Given the description of an element on the screen output the (x, y) to click on. 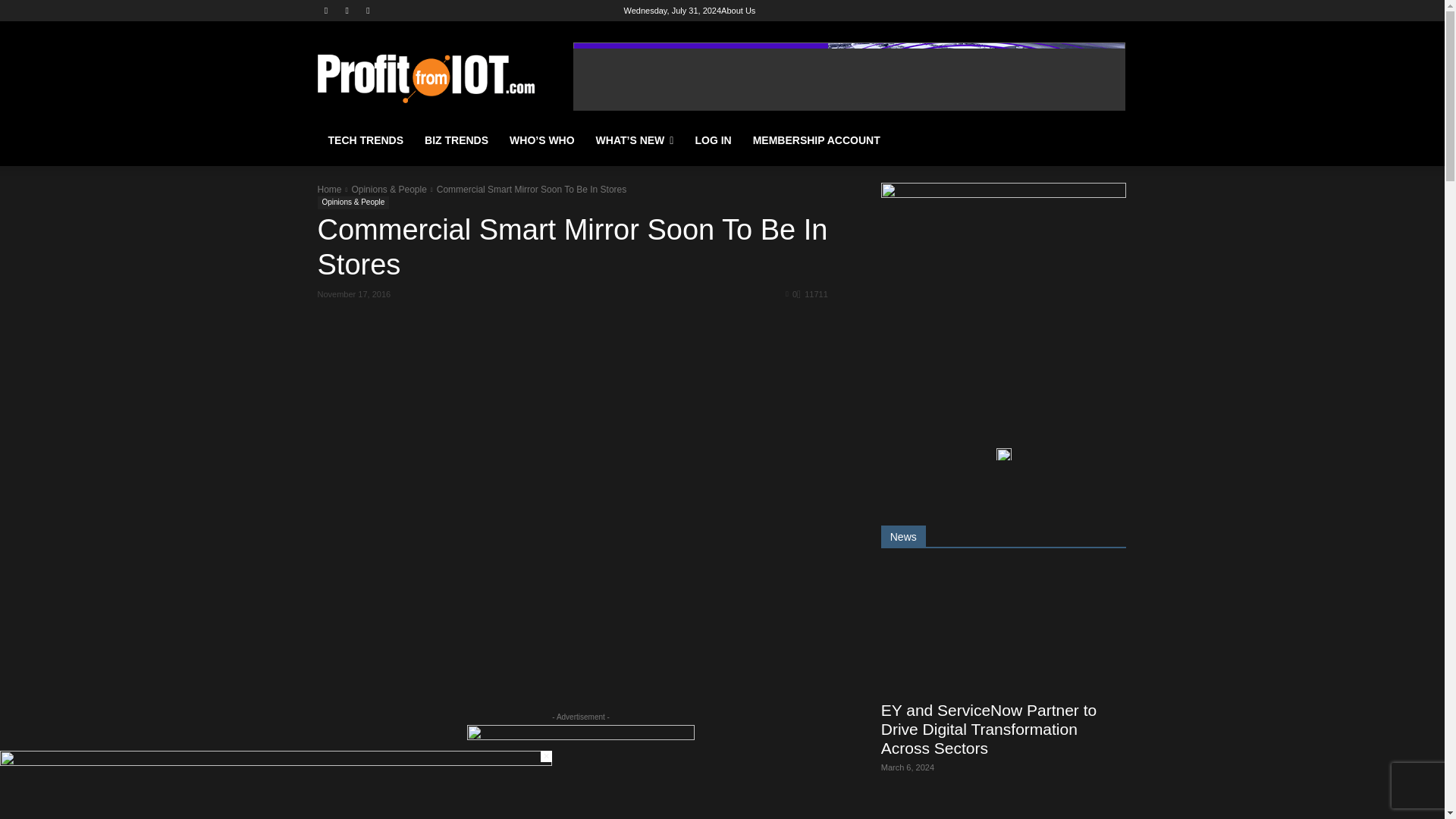
Home (328, 189)
LOG IN (712, 140)
Twitter (368, 9)
0 (791, 293)
Facebook (325, 9)
Instagram (346, 9)
TECH TRENDS (365, 140)
MEMBERSHIP ACCOUNT (816, 140)
About Us (737, 10)
BIZ TRENDS (456, 140)
